Given the description of an element on the screen output the (x, y) to click on. 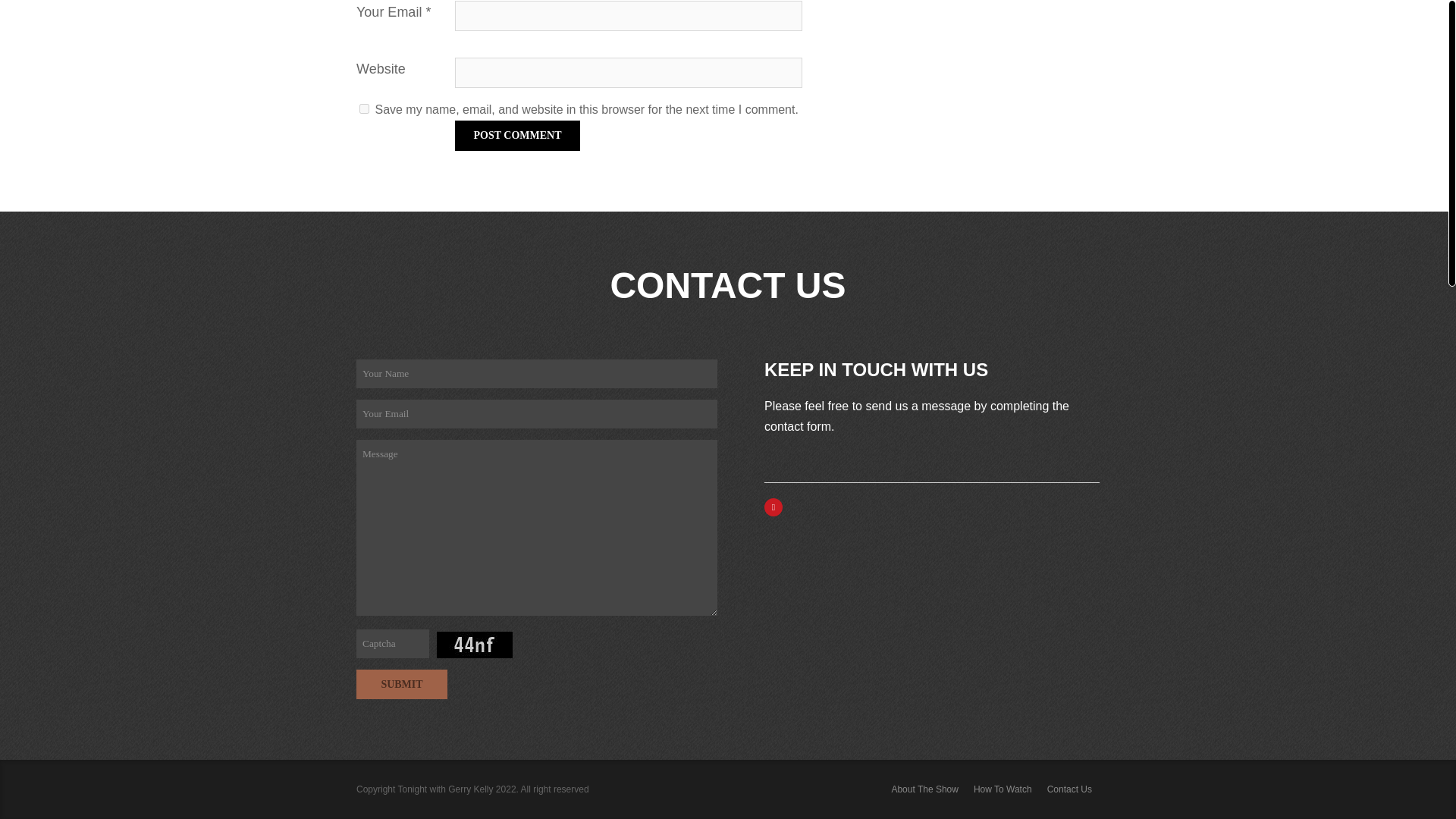
Post Comment (516, 135)
